Given the description of an element on the screen output the (x, y) to click on. 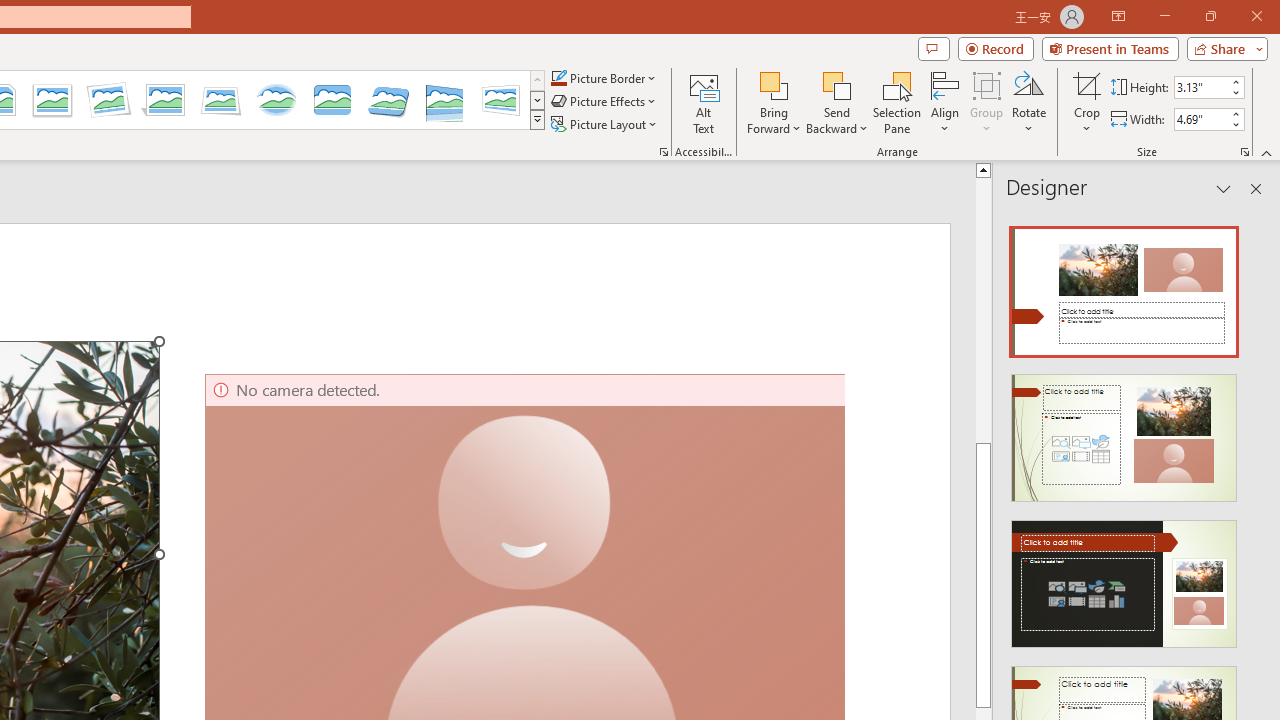
Rotate (1028, 102)
Crop (1087, 102)
Selection Pane... (897, 102)
Picture Layout (605, 124)
Picture Border Teal, Accent 1 (558, 78)
Relaxed Perspective, White (221, 100)
Picture... (663, 151)
Shape Height (1201, 87)
Bevel Perspective (388, 100)
Perspective Shadow, White (164, 100)
Picture Effects (605, 101)
